Given the description of an element on the screen output the (x, y) to click on. 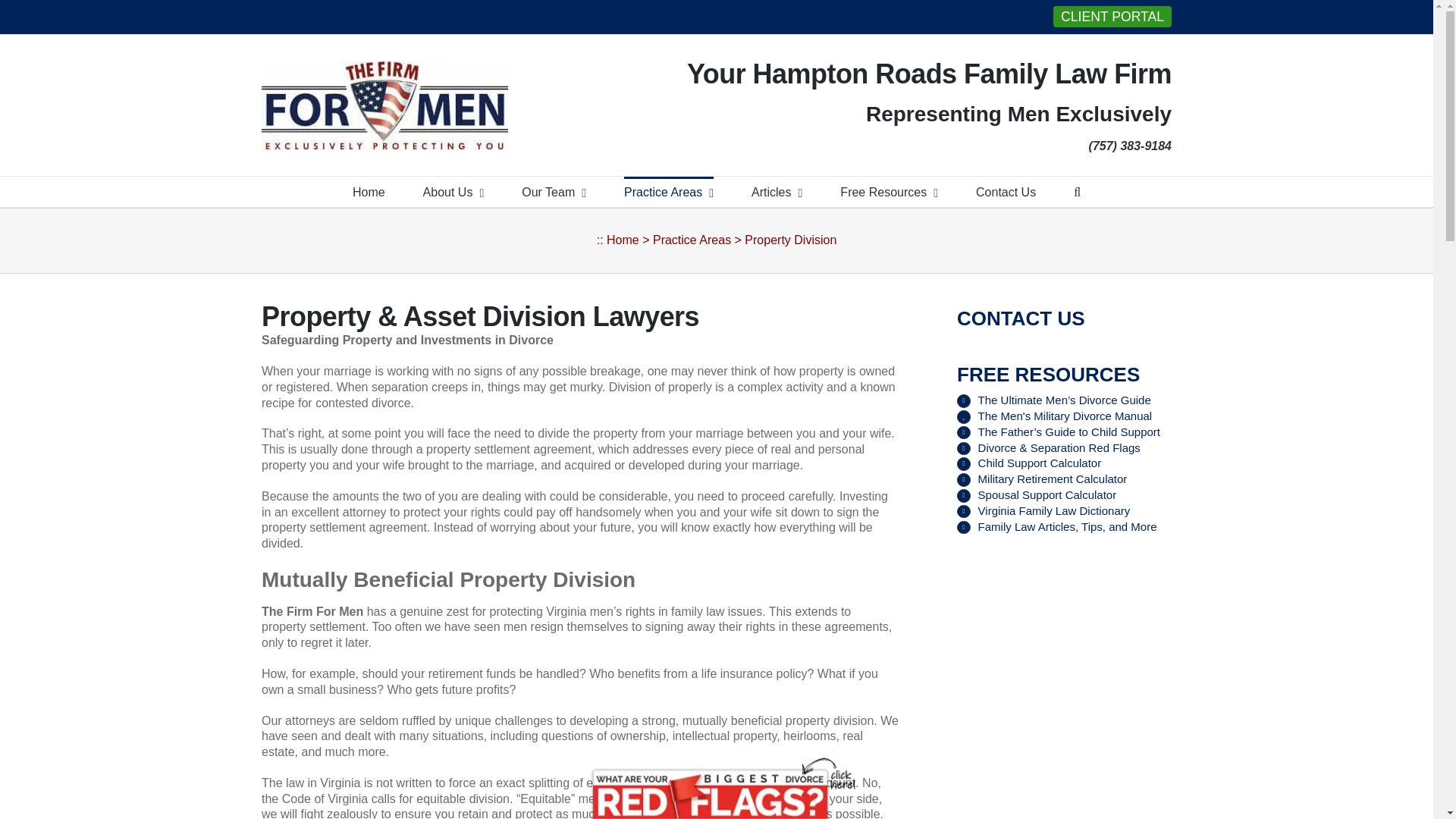
About Us (453, 191)
CLIENT PORTAL (1112, 16)
Articles (776, 191)
Practice Areas (668, 191)
Home (368, 191)
Our Team (553, 191)
